Given the description of an element on the screen output the (x, y) to click on. 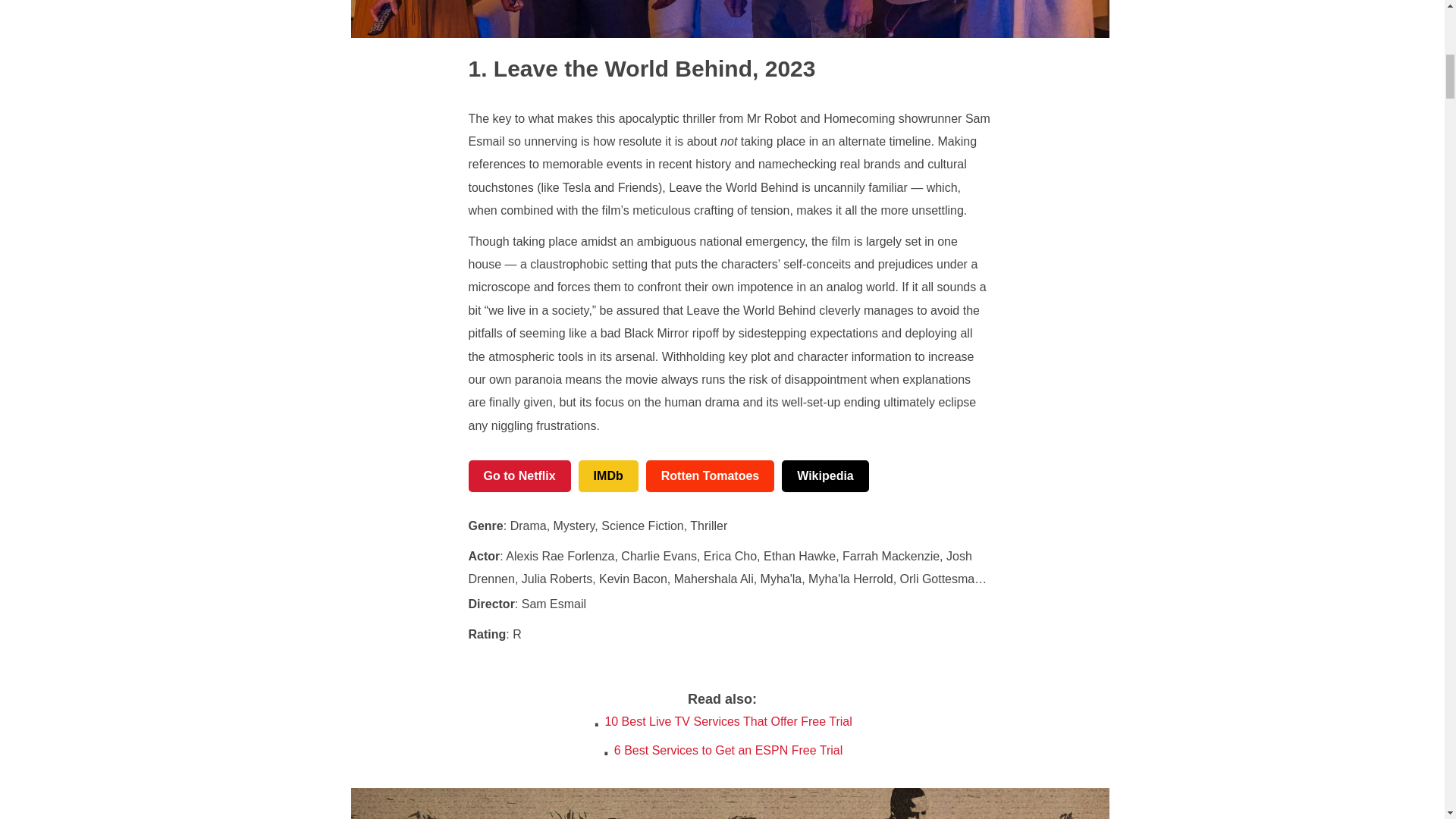
Leave the World Behind (610, 68)
